Given the description of an element on the screen output the (x, y) to click on. 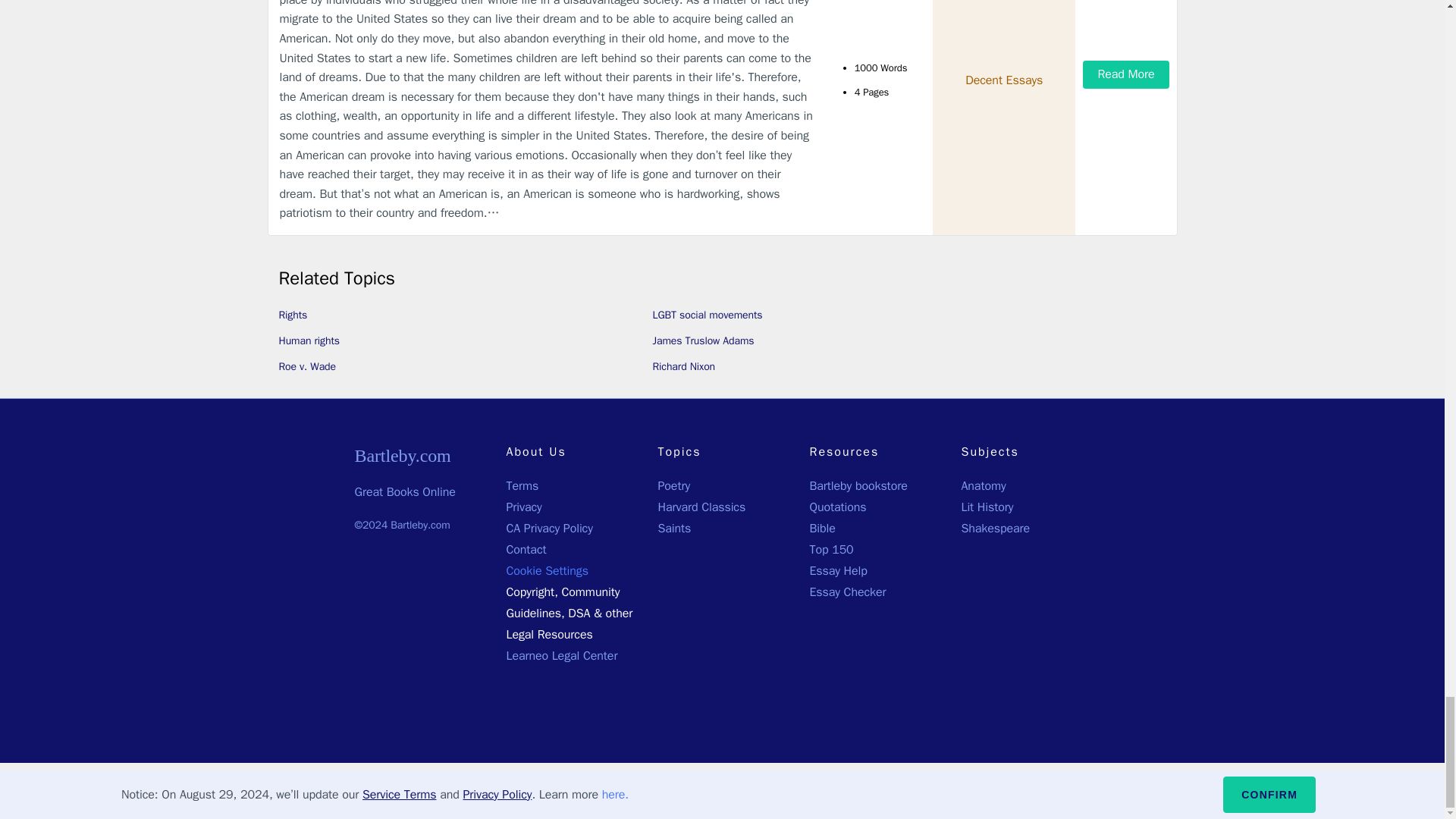
LGBT social movements (706, 314)
Richard Nixon (683, 366)
Human rights (309, 340)
James Truslow Adams (703, 340)
Rights (293, 314)
Roe v. Wade (307, 366)
